Given the description of an element on the screen output the (x, y) to click on. 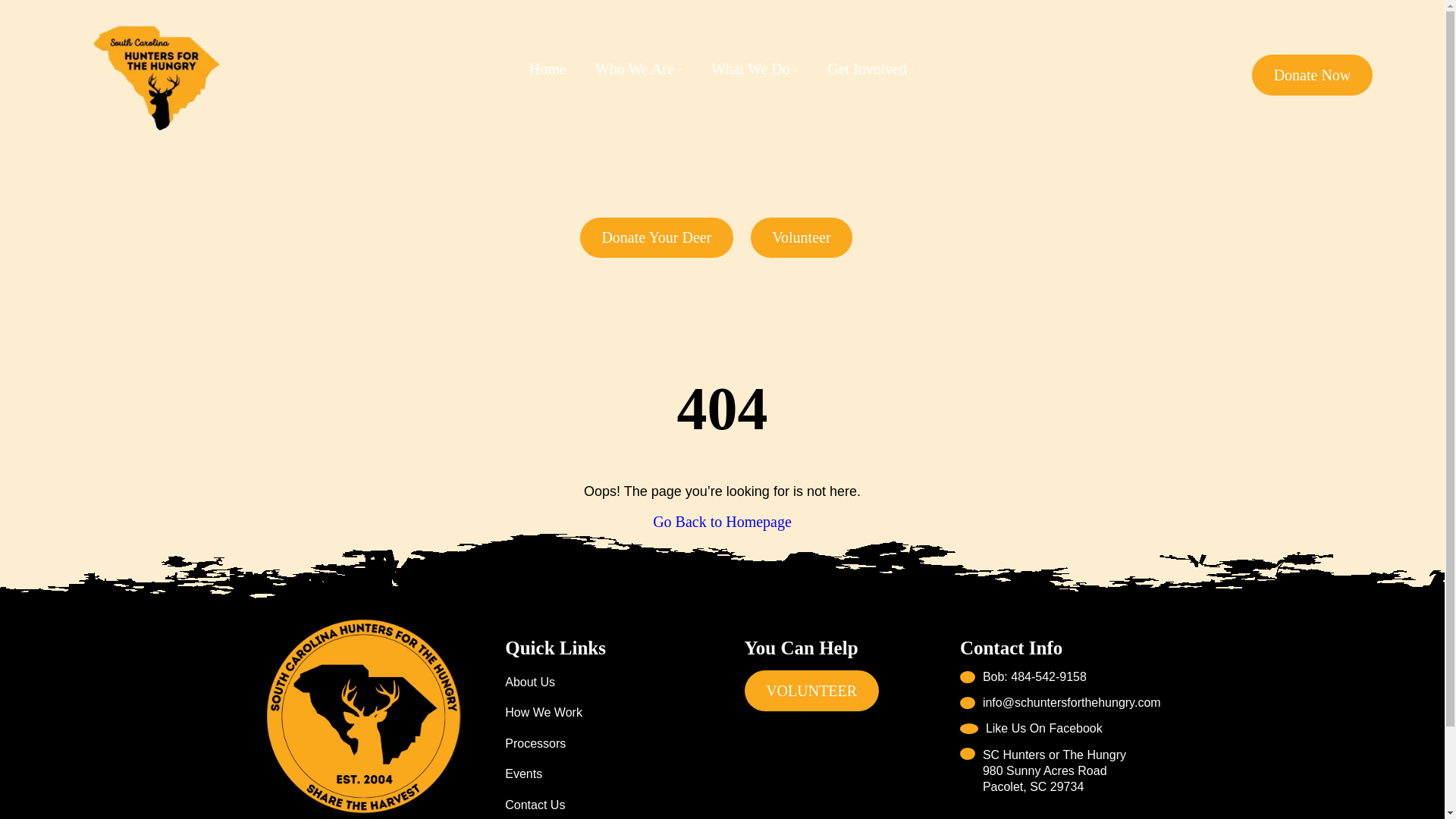
Like Us On Facebook (1030, 728)
Home (547, 68)
VOLUNTEER (811, 690)
Processors (535, 744)
Get Involved (867, 68)
Go Back to Homepage (722, 521)
About Us (529, 682)
Events (523, 774)
Bob: 484-542-9158 (1059, 676)
